Given the description of an element on the screen output the (x, y) to click on. 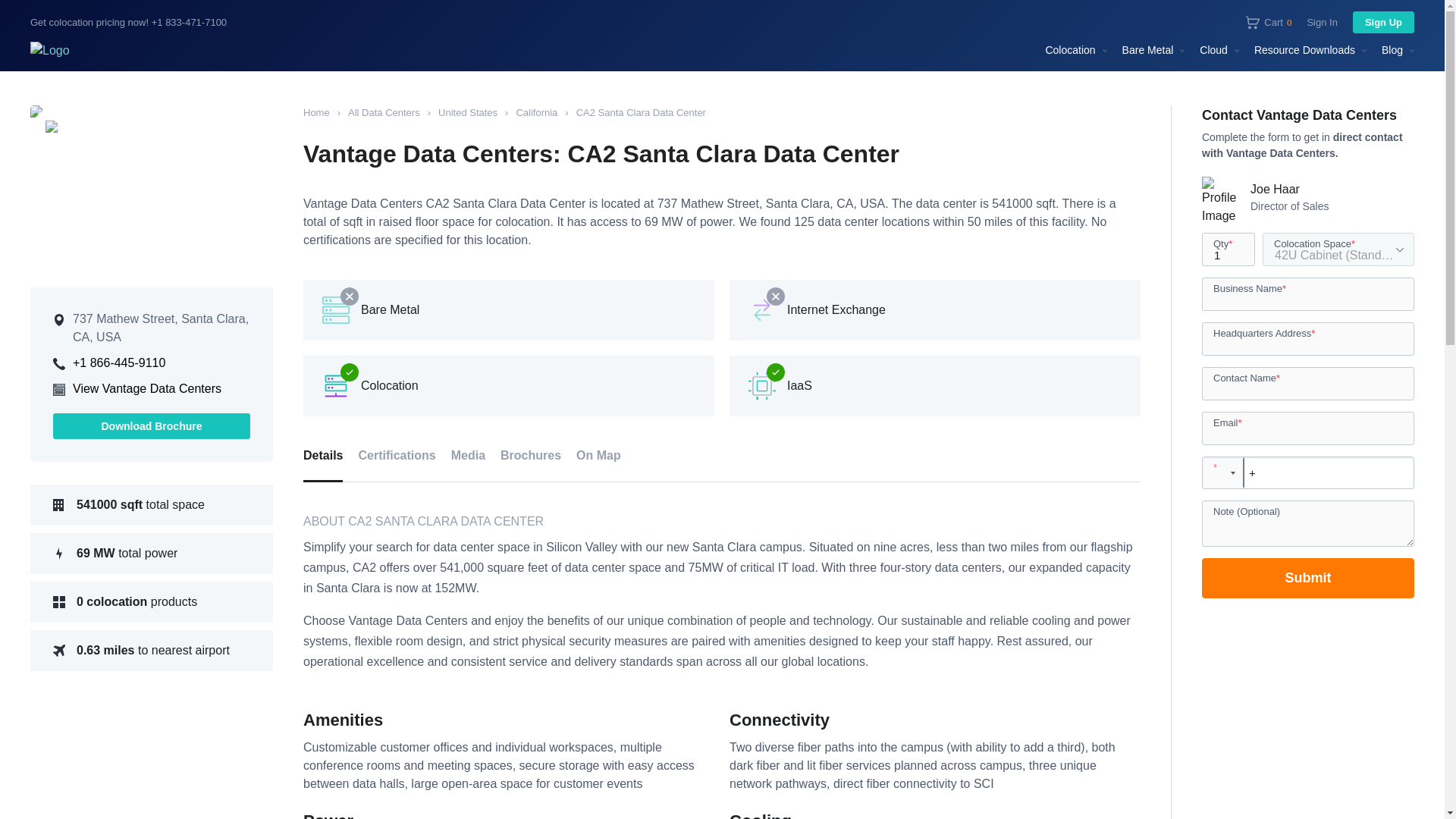
Sign Up (1382, 22)
1 (1228, 249)
Sign In (1268, 21)
